Given the description of an element on the screen output the (x, y) to click on. 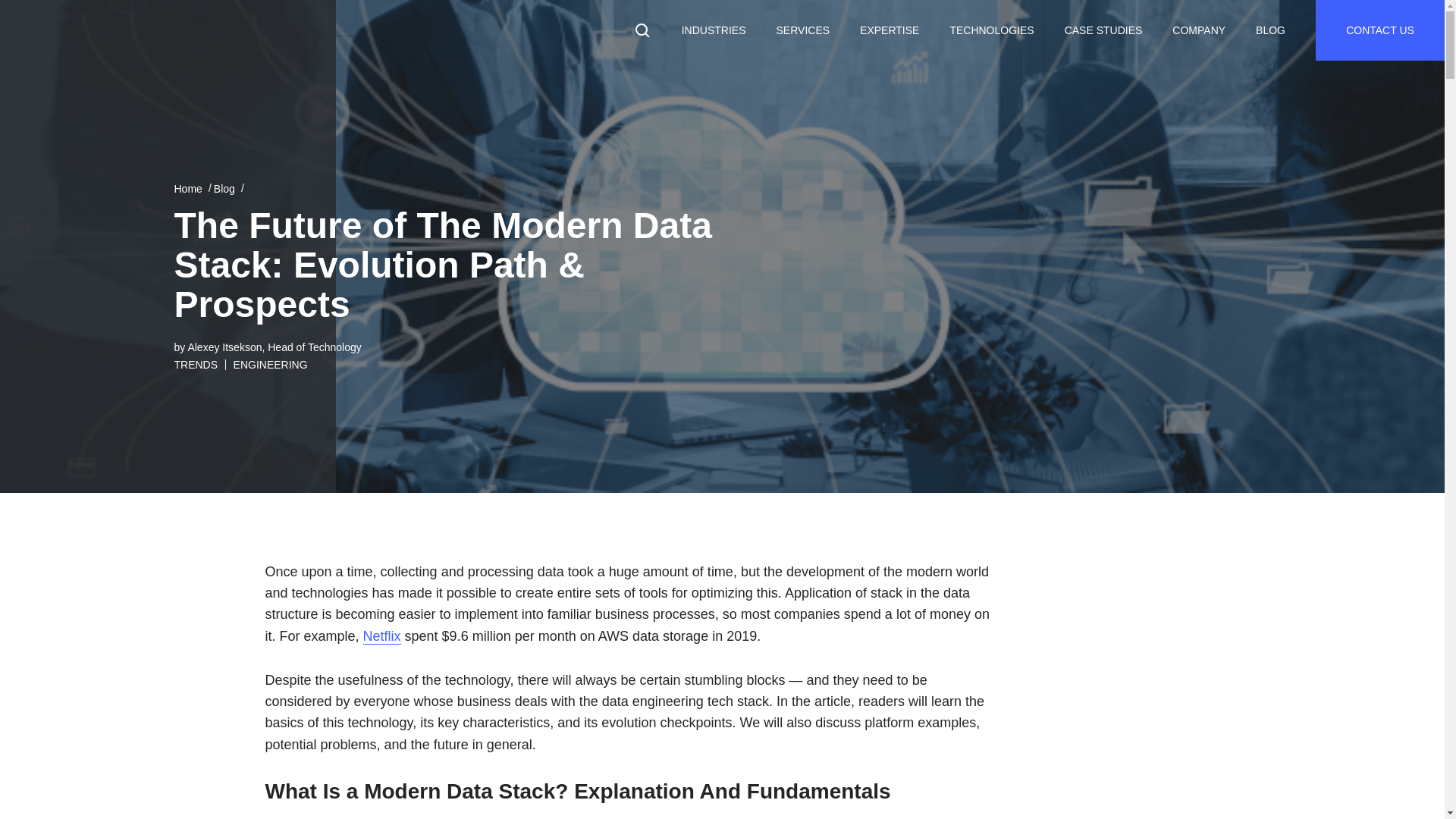
Search (22, 6)
SERVICES (803, 30)
INDUSTRIES (713, 30)
TECHNOLOGIES (991, 30)
EXPERTISE (889, 30)
